Given the description of an element on the screen output the (x, y) to click on. 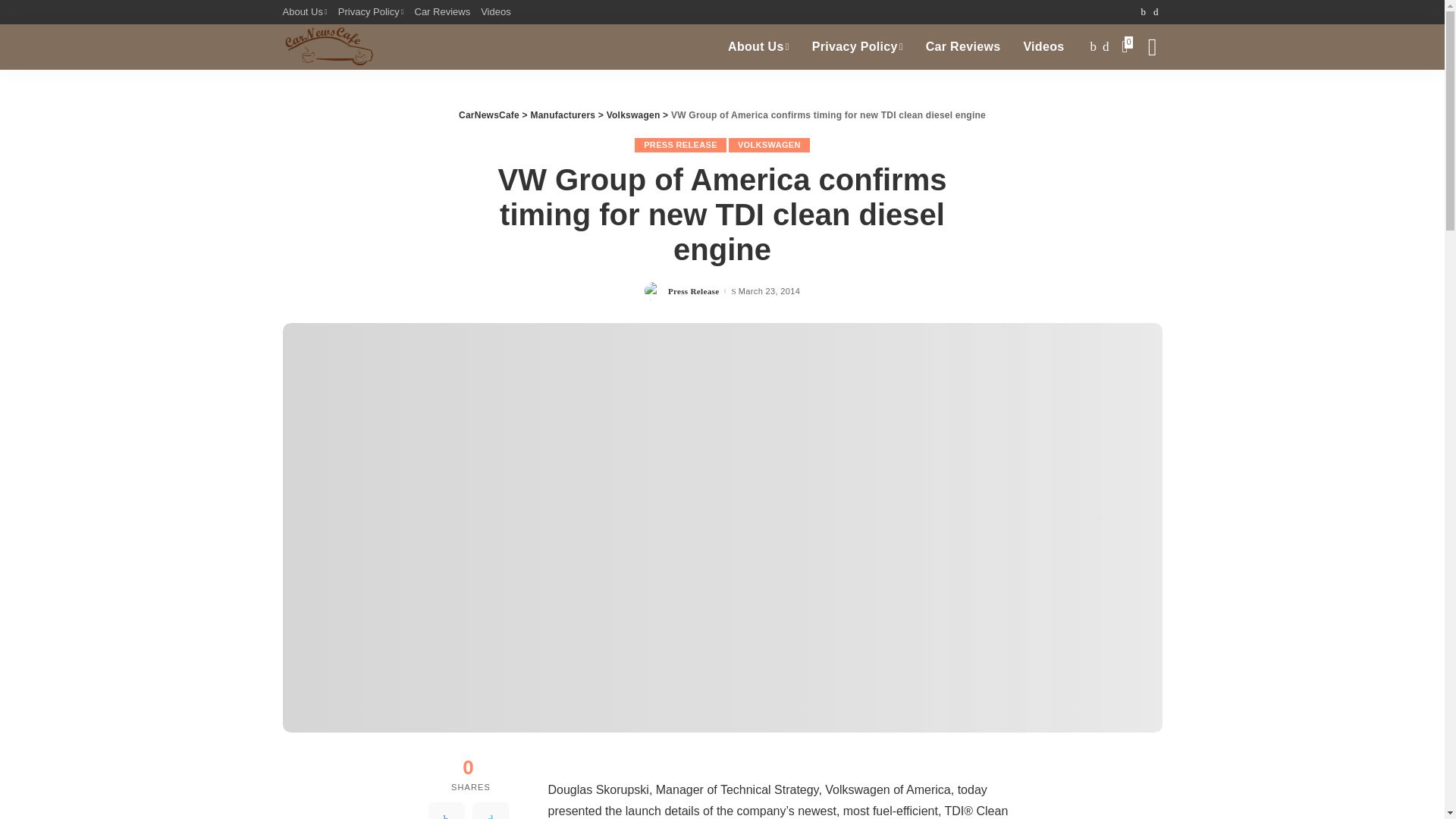
Videos (1043, 46)
CarNewsCafe (328, 46)
Go to the Manufacturers Category archives. (562, 114)
Car Reviews (442, 12)
Videos (496, 12)
Facebook (446, 810)
Privacy Policy (371, 12)
Go to CarNewsCafe. (488, 114)
Privacy Policy (857, 46)
2014-03-23T23:47:53-04:00 (768, 291)
About Us (758, 46)
About Us (306, 12)
Search (1140, 97)
Twitter (489, 810)
Go to the Volkswagen Category archives. (634, 114)
